Given the description of an element on the screen output the (x, y) to click on. 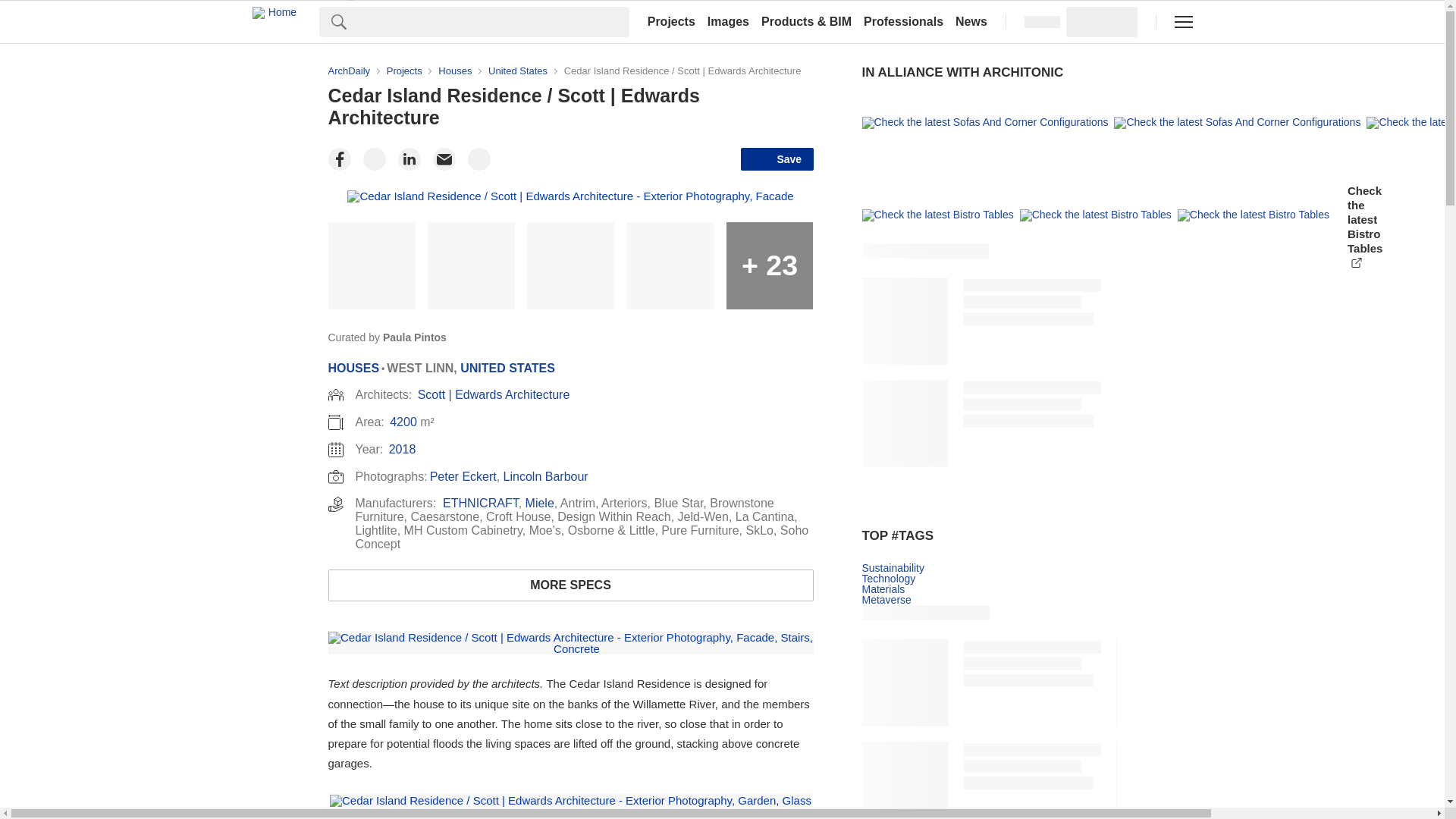
Professionals (903, 21)
Projects (671, 21)
News (970, 21)
Images (728, 21)
